Given the description of an element on the screen output the (x, y) to click on. 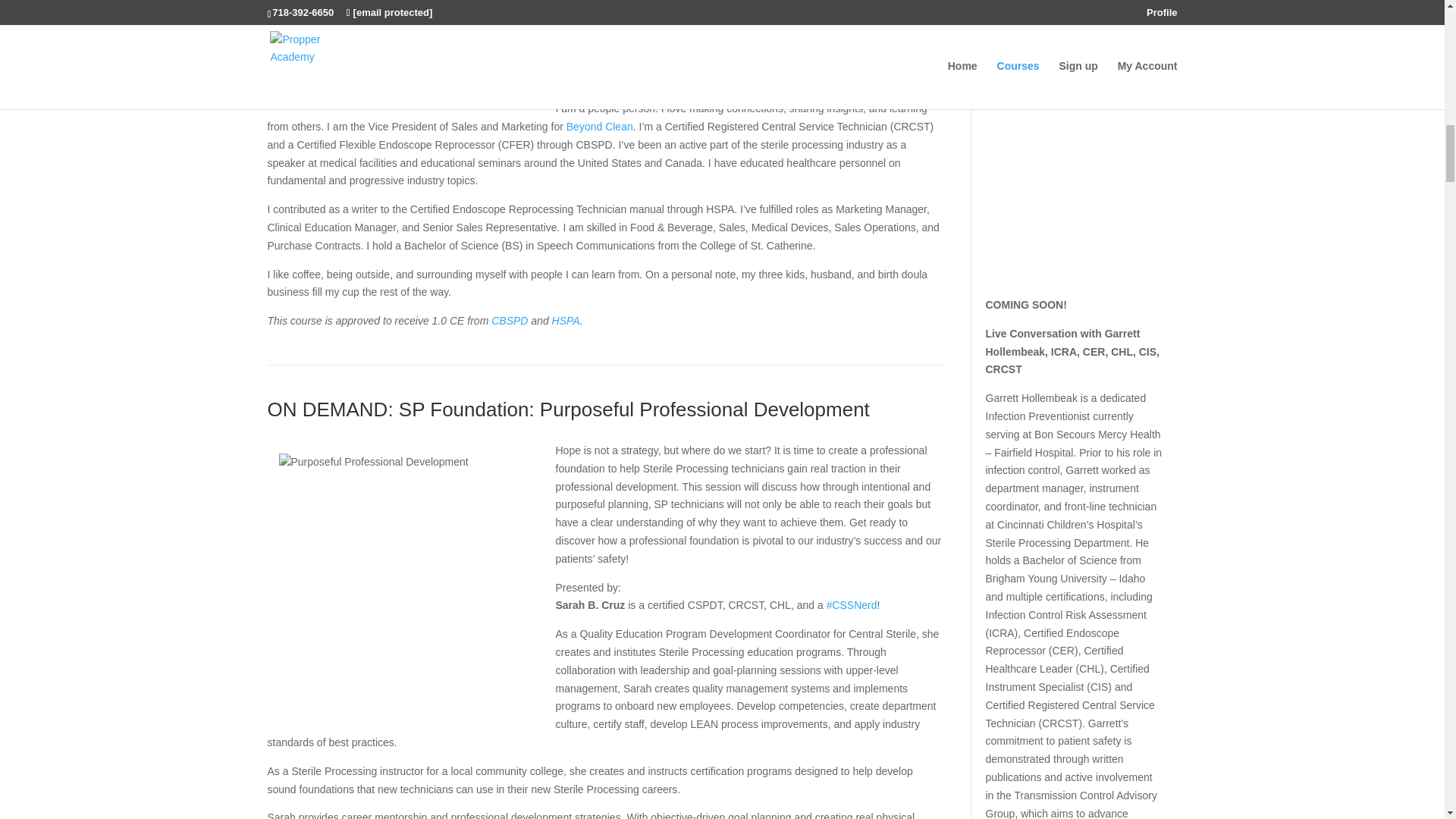
HSPA (565, 320)
Beyond Clean (599, 126)
CBSPD (509, 320)
Professional Growth Enthusiast (846, 51)
